Given the description of an element on the screen output the (x, y) to click on. 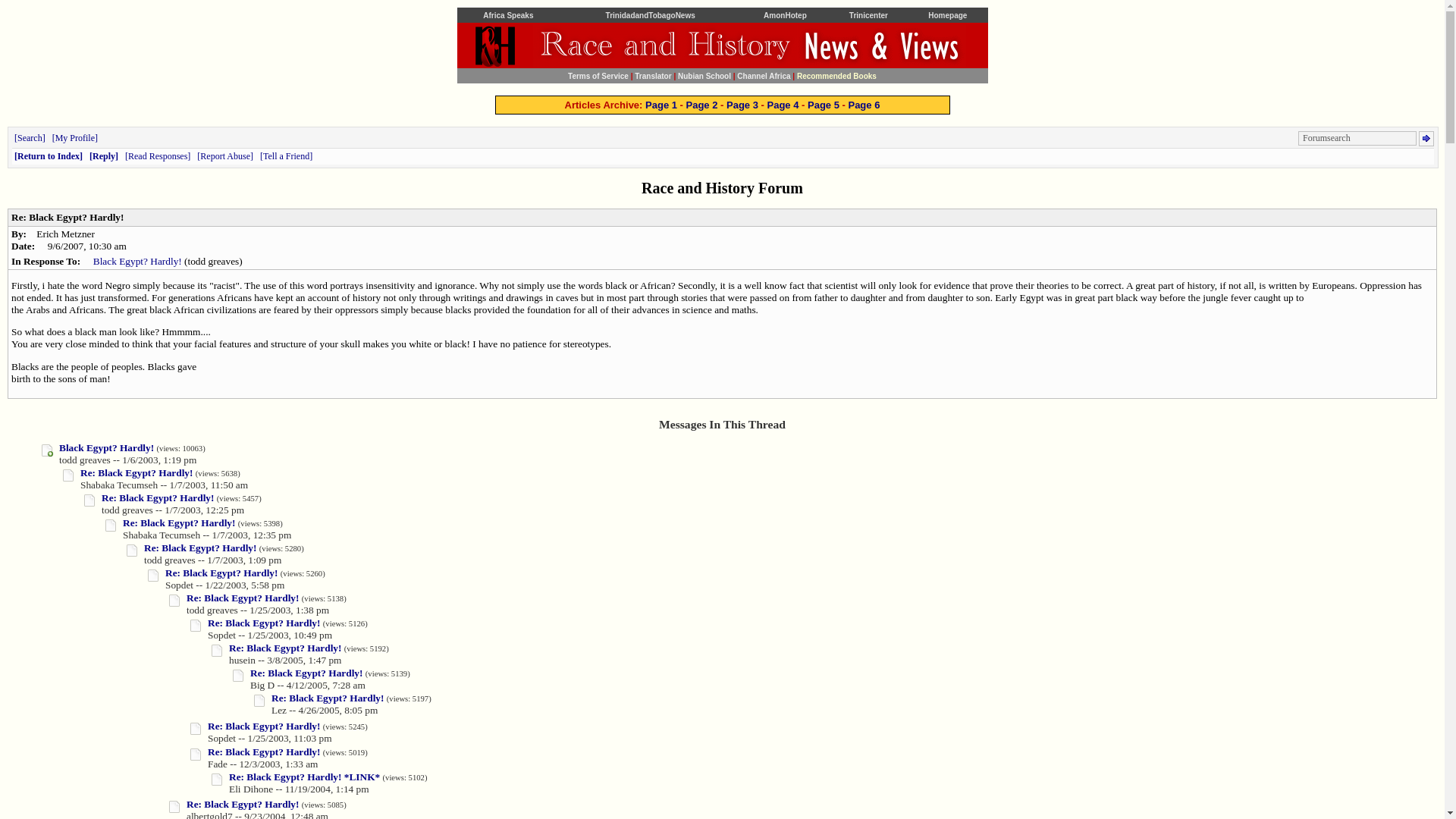
Re: Black Egypt? Hardly! (284, 647)
Page 4 (783, 104)
Terms of Service (597, 75)
Re: Black Egypt? Hardly! (136, 472)
Search (29, 137)
 Forumsearch (1357, 138)
Re: Black Egypt? Hardly! (157, 497)
Page 5 (824, 104)
Submit (1426, 137)
Page 3 (742, 104)
Black Egypt? Hardly! (106, 447)
Reply (102, 155)
Re: Black Egypt? Hardly! (200, 547)
AmonHotep (784, 14)
